Given the description of an element on the screen output the (x, y) to click on. 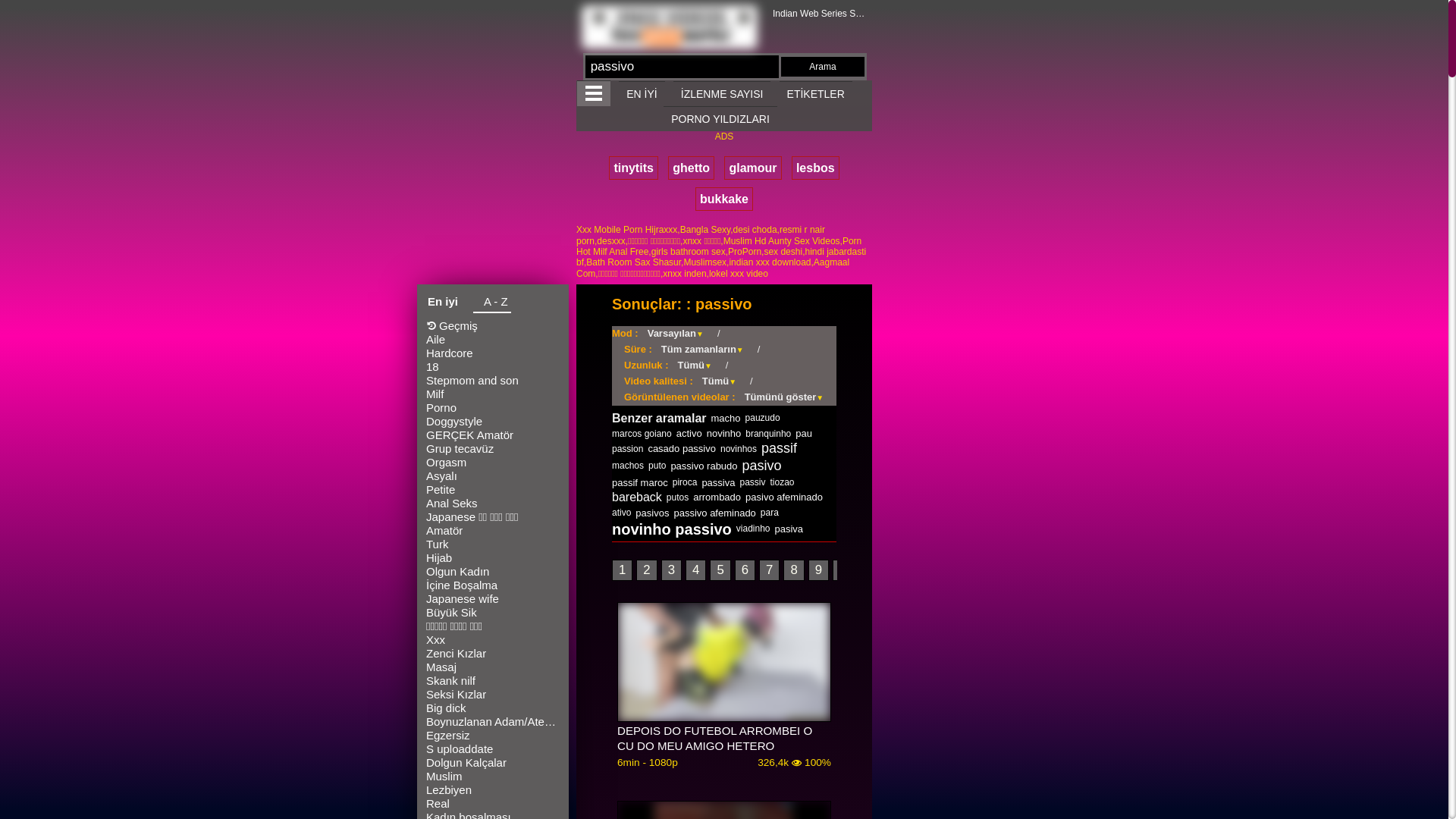
ghetto Element type: text (691, 167)
Doggystyle Element type: text (492, 421)
passivo rabudo Element type: text (703, 465)
activo Element type: text (689, 433)
macho Element type: text (725, 417)
piroca Element type: text (684, 481)
passif maroc Element type: text (639, 482)
Stepmom and son Element type: text (492, 380)
Porno Element type: text (492, 407)
branquinho Element type: text (767, 433)
pasiva Element type: text (789, 528)
Orgasm Element type: text (492, 462)
Real Element type: text (492, 803)
marcos goiano Element type: text (641, 433)
pau Element type: text (803, 433)
Arama Element type: text (822, 66)
3 Element type: text (671, 569)
1 Element type: text (621, 569)
ativo Element type: text (620, 512)
2 Element type: text (646, 569)
Muslim Element type: text (492, 776)
4 Element type: text (695, 569)
passiva Element type: text (717, 482)
lesbos Element type: text (815, 167)
glamour Element type: text (752, 167)
pasivo Element type: text (761, 465)
casado passivo Element type: text (681, 448)
Xxx Element type: text (492, 639)
pasivos Element type: text (651, 512)
Big dick Element type: text (492, 708)
Hijab Element type: text (492, 557)
passiv Element type: text (752, 481)
novinho Element type: text (723, 433)
8 Element type: text (793, 569)
machos Element type: text (627, 465)
puto Element type: text (656, 465)
tinytits Element type: text (632, 167)
pasivo afeminado Element type: text (783, 496)
Hardcore Element type: text (492, 353)
En iyi Element type: text (442, 302)
Milf Element type: text (492, 394)
passif Element type: text (779, 447)
passion Element type: text (627, 448)
DEPOIS DO FUTEBOL ARROMBEI O CU DO MEU AMIGO HETERO Element type: text (724, 738)
S uploaddate Element type: text (492, 749)
5 Element type: text (719, 569)
viadinho Element type: text (753, 528)
putos Element type: text (677, 497)
7 Element type: text (769, 569)
Egzersiz Element type: text (492, 735)
novinho passivo Element type: text (671, 528)
9 Element type: text (818, 569)
6 Element type: text (744, 569)
para Element type: text (769, 512)
tiozao Element type: text (781, 481)
18 Element type: text (492, 366)
bareback Element type: text (636, 496)
Petite Element type: text (492, 489)
arrombado Element type: text (716, 496)
pauzudo Element type: text (762, 417)
Turk Element type: text (492, 544)
Lezbiyen Element type: text (492, 790)
Skank nilf Element type: text (492, 680)
A - Z Element type: text (492, 303)
Japanese wife Element type: text (492, 598)
bukkake Element type: text (724, 198)
Anal Seks Element type: text (492, 503)
passivo afeminado Element type: text (714, 512)
ETIKETLER Element type: text (815, 93)
10 Element type: text (846, 569)
novinhos Element type: text (738, 448)
Aile Element type: text (492, 339)
PORNO YILDIZLARI Element type: text (720, 118)
Masaj Element type: text (492, 667)
